Given the description of an element on the screen output the (x, y) to click on. 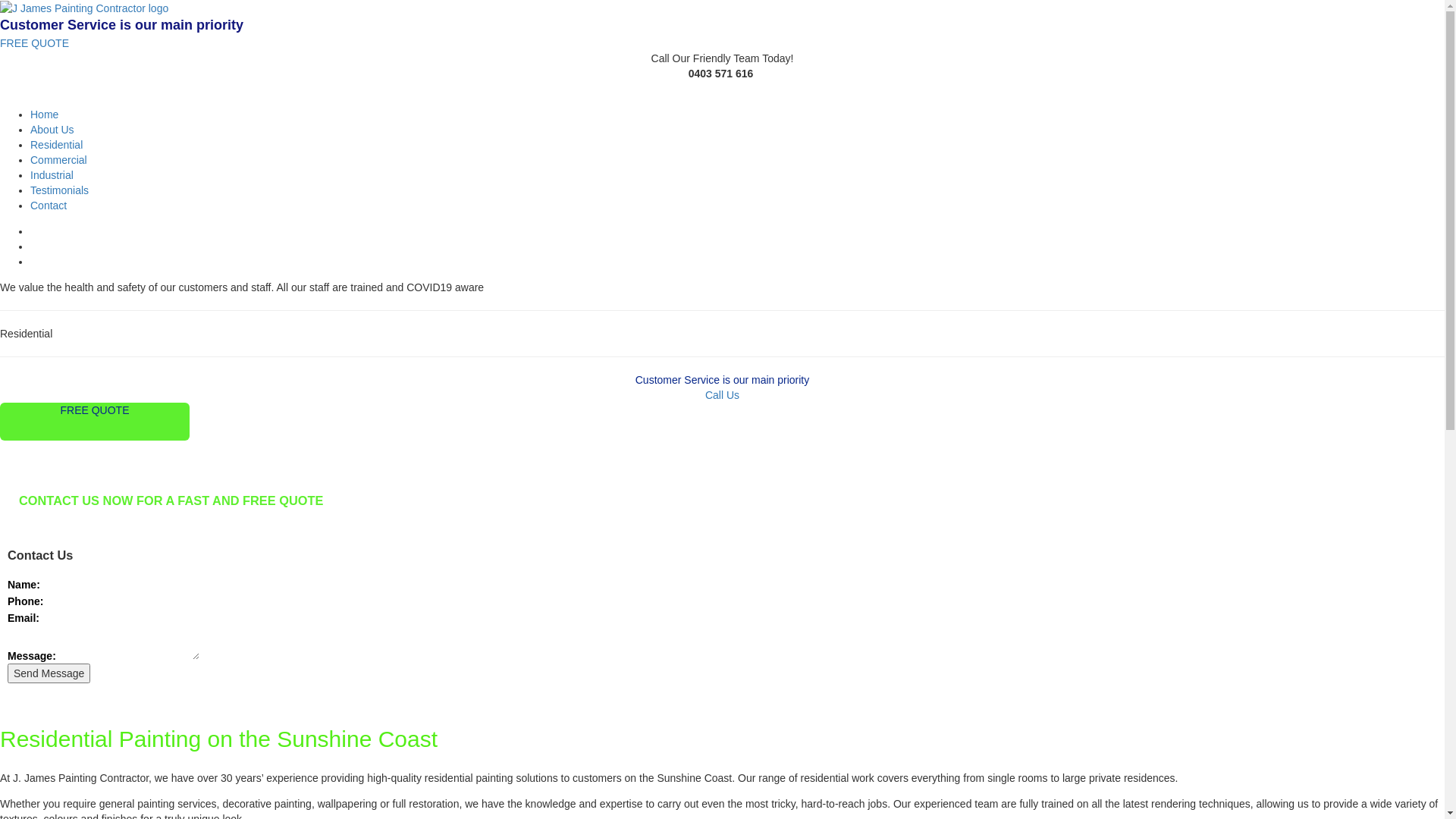
Residential Element type: text (56, 144)
FREE QUOTE Element type: text (34, 43)
Send Message Element type: text (48, 673)
About Us Element type: text (52, 129)
Contact Element type: text (48, 205)
J James Painting Contractor logo Element type: hover (84, 7)
Home Element type: text (44, 114)
Testimonials Element type: text (59, 190)
Industrial Element type: text (51, 175)
Commercial Element type: text (58, 159)
Call Us Element type: text (722, 395)
FREE QUOTE Element type: text (94, 421)
